Given the description of an element on the screen output the (x, y) to click on. 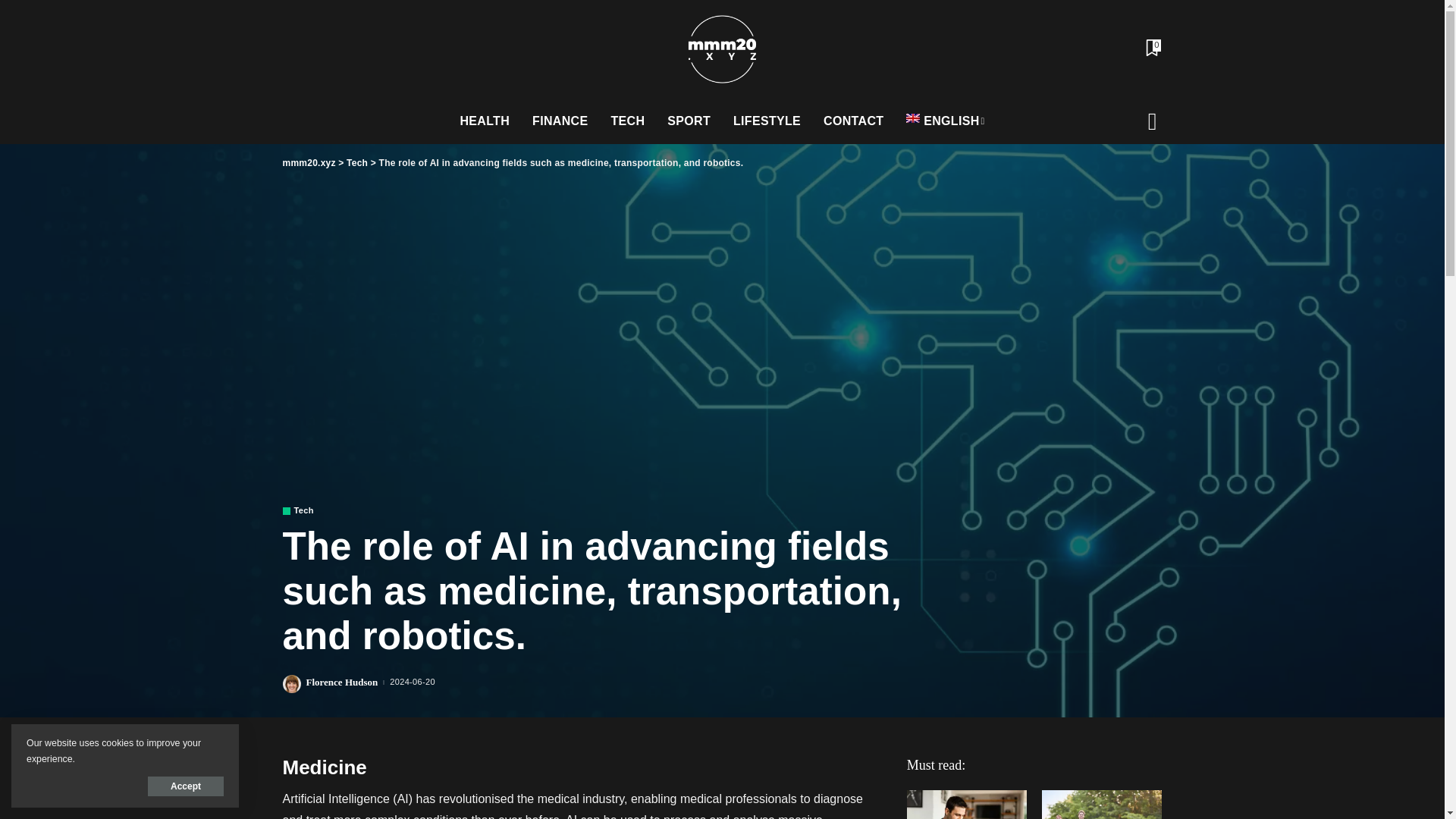
0 (1151, 48)
HEALTH (484, 121)
FINANCE (559, 121)
mmm20.xyz (721, 49)
English (945, 121)
